Given the description of an element on the screen output the (x, y) to click on. 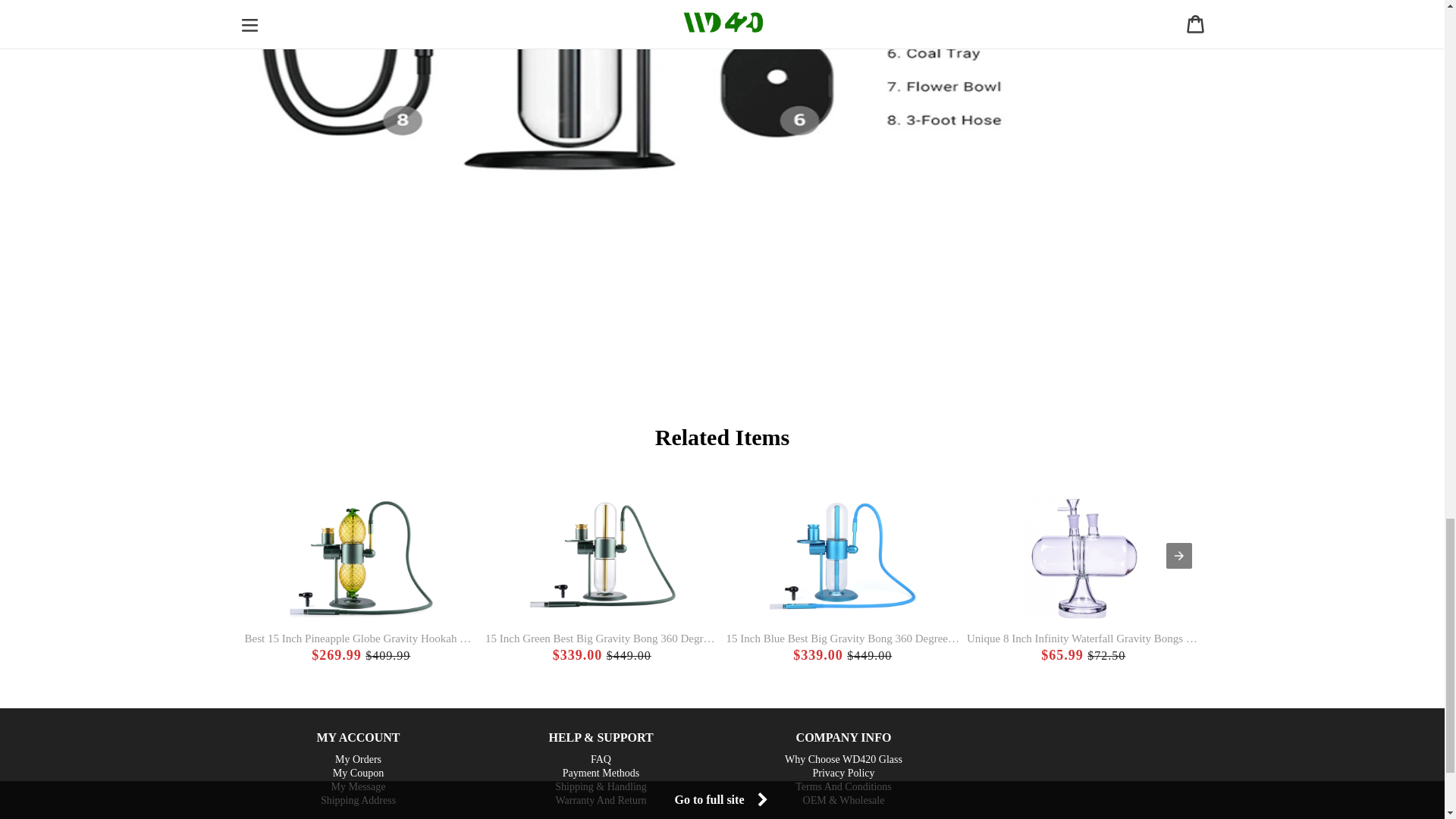
My Message (358, 786)
MY ACCOUNT (356, 737)
Warranty And Return (600, 800)
My Coupon (358, 773)
Shipping Address (358, 800)
My Orders (357, 759)
COMPANY INFO (843, 737)
